Given the description of an element on the screen output the (x, y) to click on. 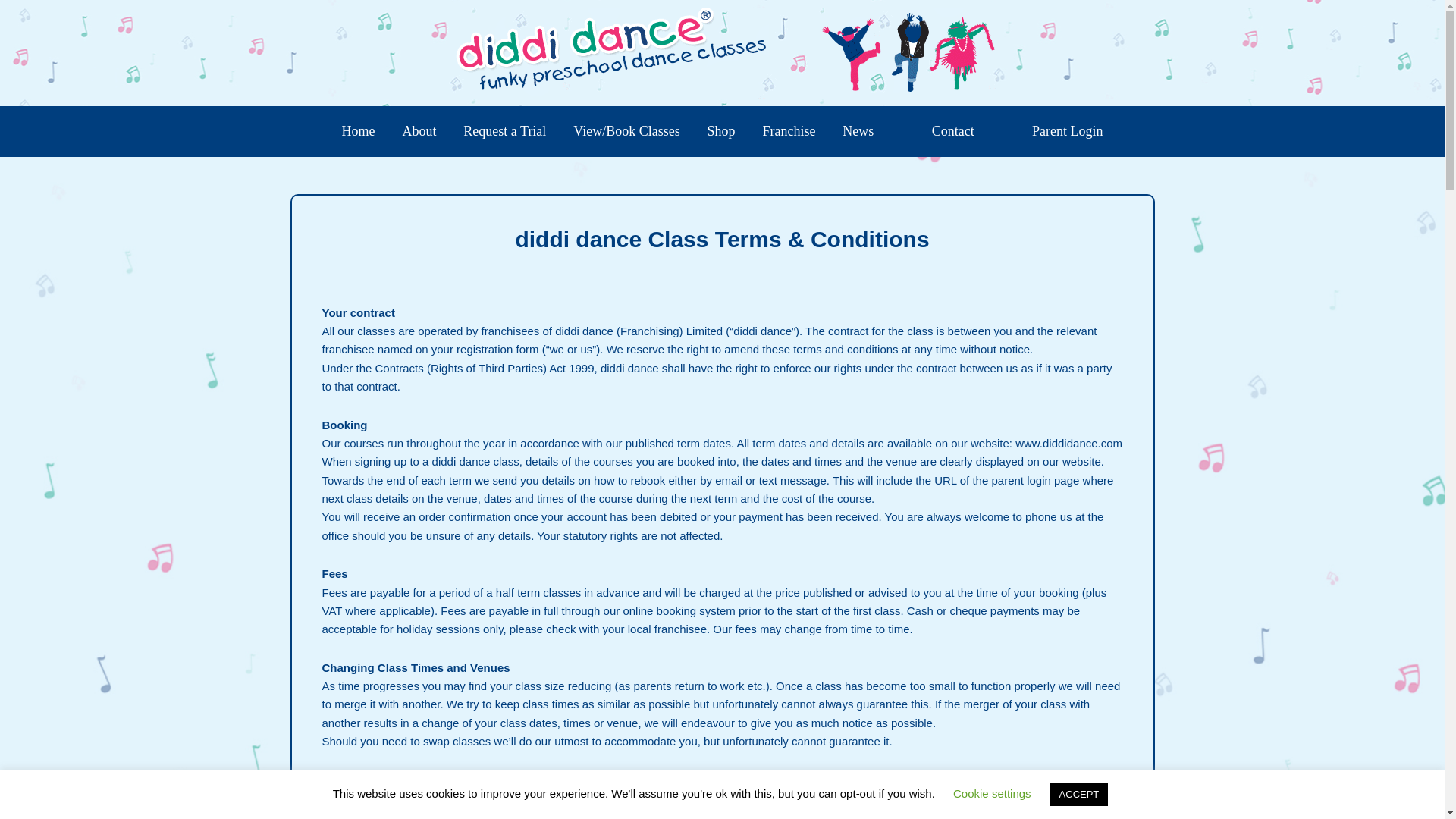
Franchise (788, 131)
Home (358, 131)
About (419, 131)
News (857, 131)
Request a Trial (504, 131)
Shop (721, 131)
DIDDI DANCE (721, 52)
Parent Login (1067, 131)
Contact (953, 131)
